Given the description of an element on the screen output the (x, y) to click on. 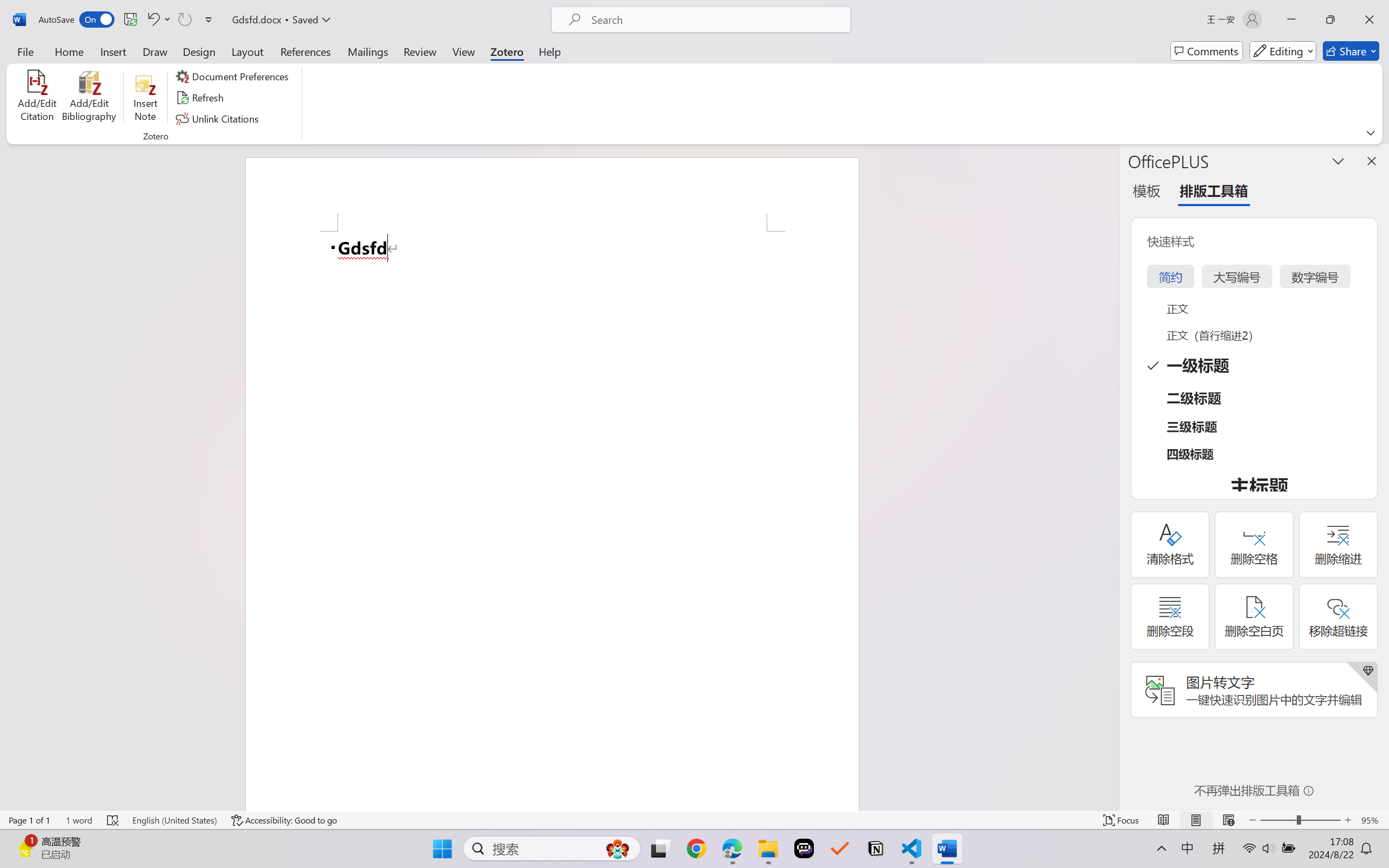
Task Pane Options (1338, 161)
Class: NetUIScrollBar (1111, 477)
Document Preferences (233, 75)
